Given the description of an element on the screen output the (x, y) to click on. 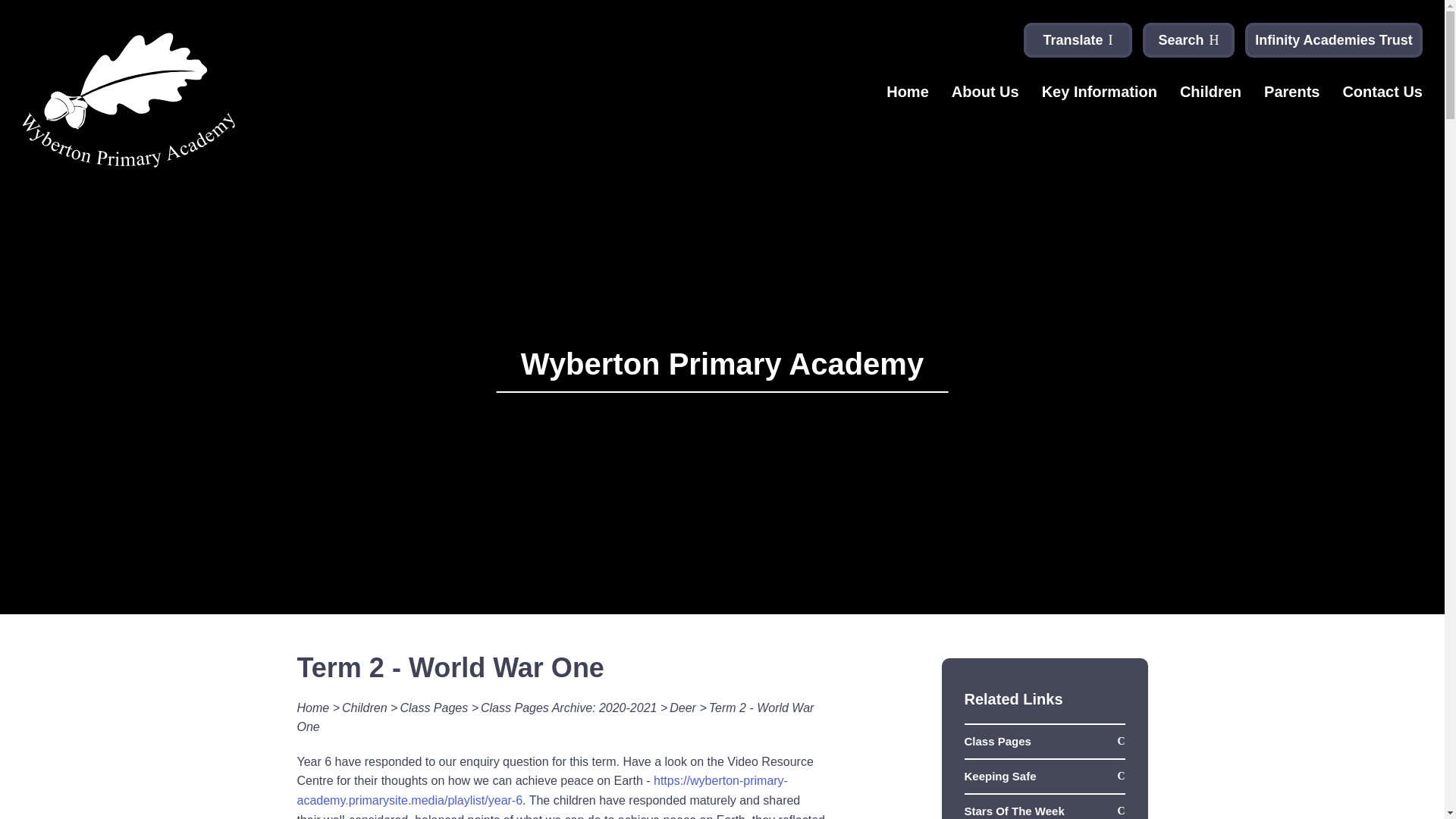
Infinity Academies Trust (1333, 39)
Home (907, 98)
About Us (985, 98)
Home Page (128, 99)
Key Information (1099, 98)
